Given the description of an element on the screen output the (x, y) to click on. 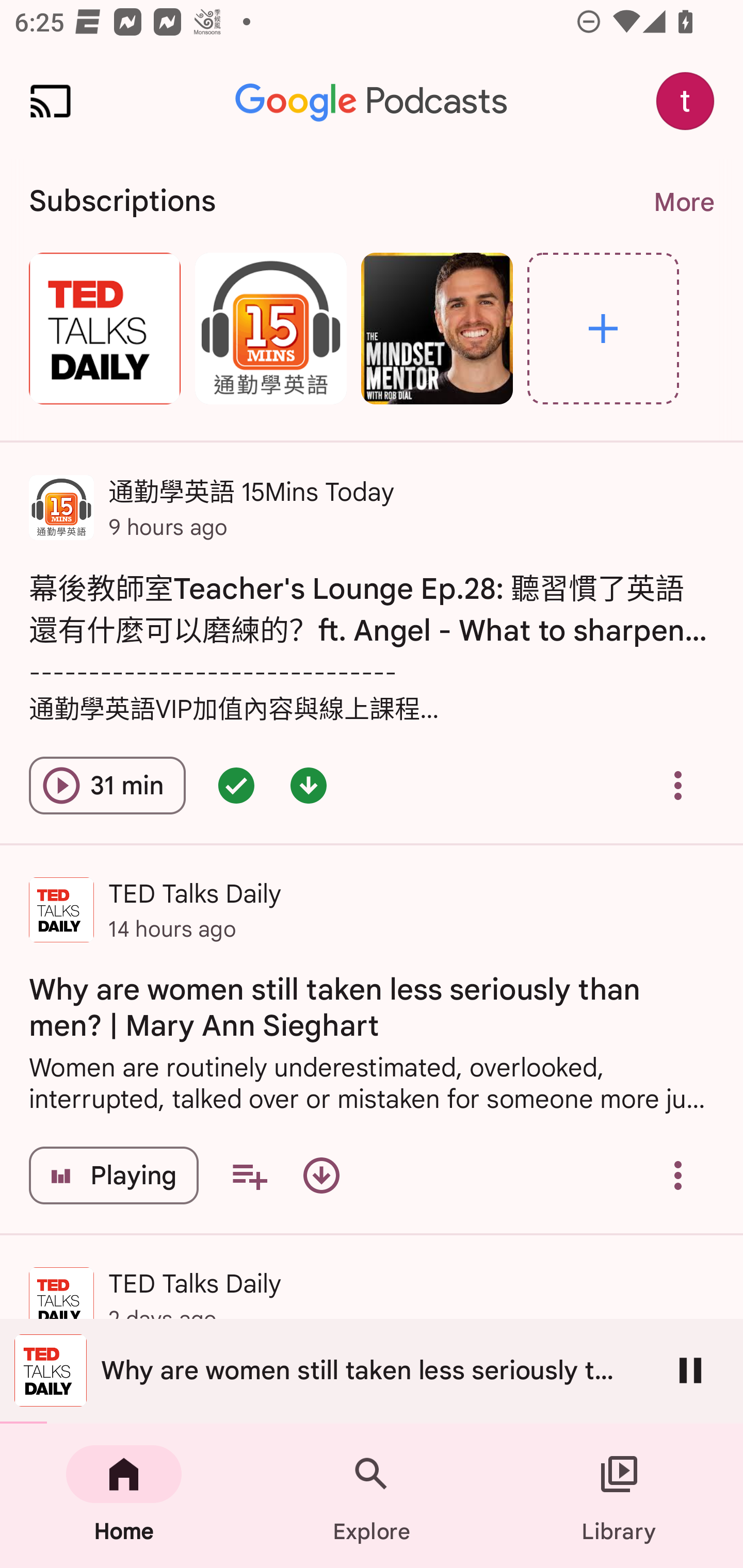
Cast. Disconnected (50, 101)
More More. Navigate to subscriptions page. (683, 202)
TED Talks Daily (104, 328)
通勤學英語 15Mins Today (270, 328)
The Mindset Mentor (436, 328)
Explore (603, 328)
Episode queued - double tap for options (235, 785)
Episode downloaded - double tap for options (308, 785)
Overflow menu (677, 785)
Add to your queue (249, 1175)
Download episode (321, 1175)
Overflow menu (677, 1175)
Pause (690, 1370)
Explore (371, 1495)
Library (619, 1495)
